Given the description of an element on the screen output the (x, y) to click on. 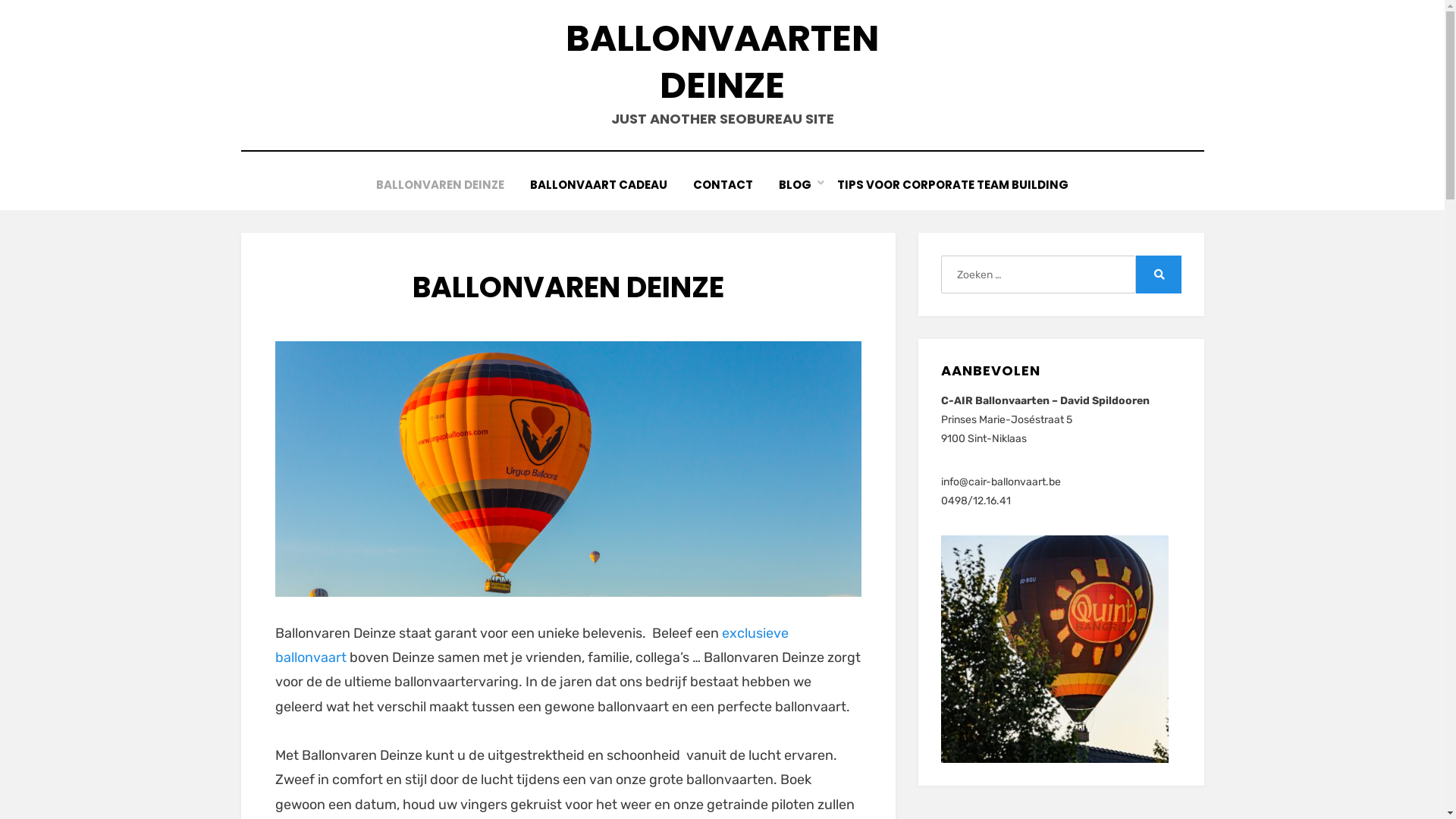
Zoeken Element type: text (1158, 274)
CONTACT Element type: text (722, 184)
exclusieve ballonvaart Element type: text (530, 644)
BALLONVAARTEN DEINZE Element type: text (721, 61)
0498/12.16.41 Element type: text (975, 500)
info@cair-ballonvaart.be Element type: text (1000, 481)
TIPS VOOR CORPORATE TEAM BUILDING Element type: text (952, 184)
BALLONVAREN DEINZE Element type: text (440, 184)
BALLONVAART CADEAU Element type: text (598, 184)
BLOG Element type: text (794, 184)
Zoeken naar: Element type: hover (1038, 274)
